Given the description of an element on the screen output the (x, y) to click on. 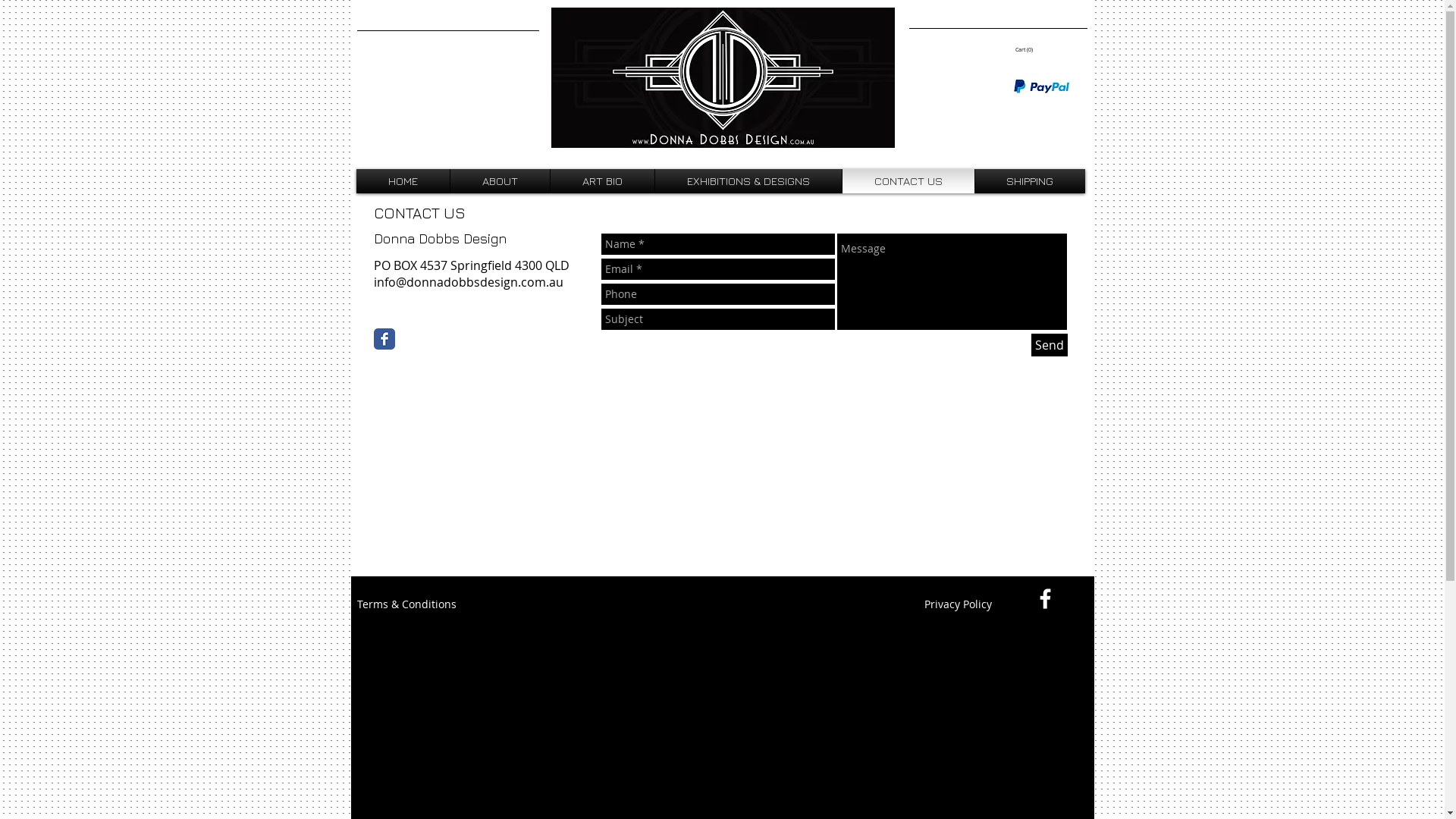
ABOUT Element type: text (499, 181)
info@donnadobbsdesign.com.au Element type: text (467, 281)
ART BIO Element type: text (601, 181)
HOME Element type: text (402, 181)
10581625_10152669030283881_1014299588_o.jpg Element type: hover (722, 77)
Privacy Policy Element type: text (957, 603)
CONTACT US Element type: text (908, 181)
Send Element type: text (1049, 344)
SHIPPING Element type: text (1029, 181)
Cart (0) Element type: text (1023, 50)
Terms & Conditions Element type: text (405, 603)
